Given the description of an element on the screen output the (x, y) to click on. 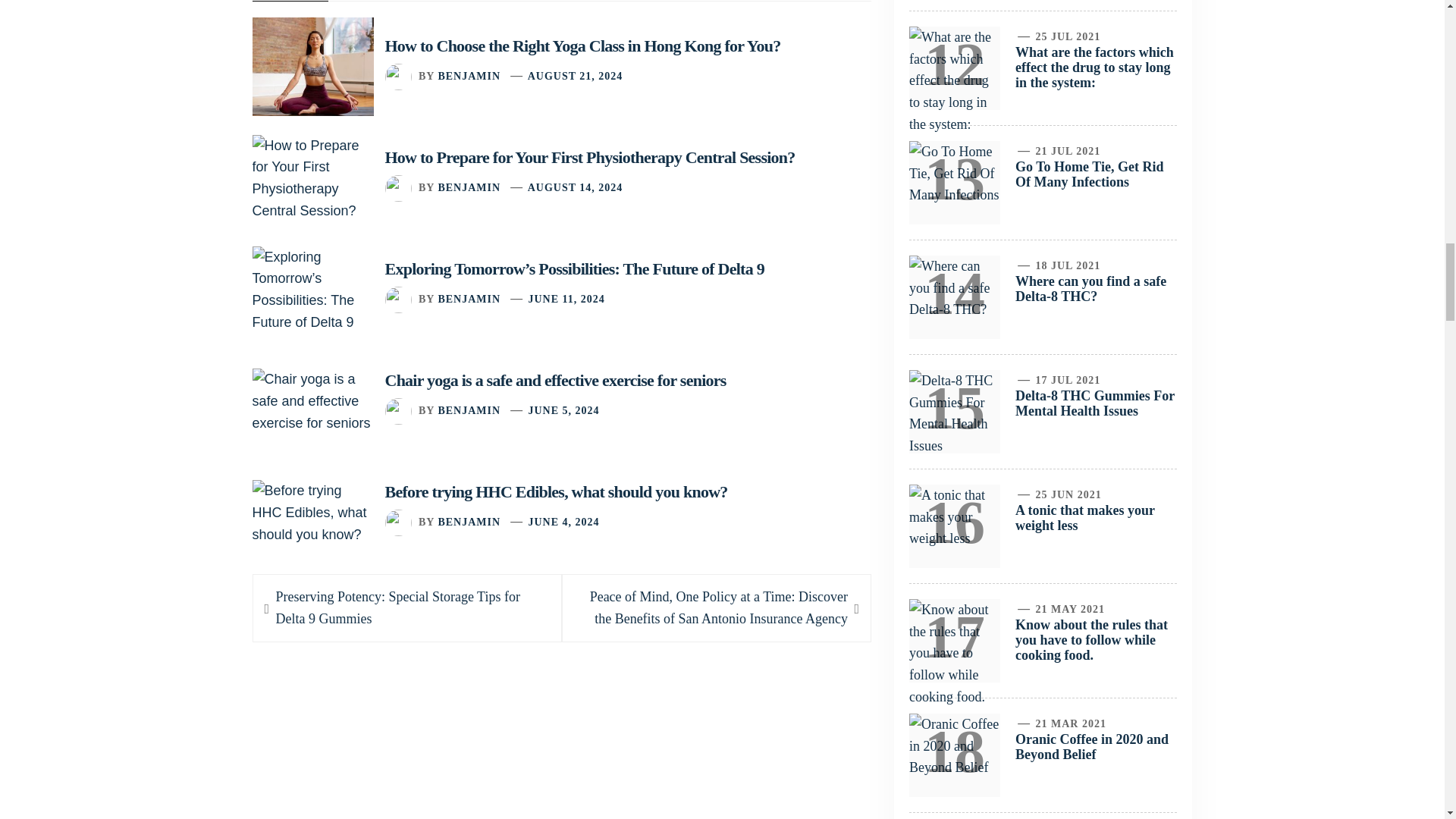
How to Choose the Right Yoga Class in Hong Kong for You? (582, 45)
BENJAMIN (469, 521)
BENJAMIN (469, 298)
BENJAMIN (469, 75)
JUNE 11, 2024 (565, 298)
JUNE 4, 2024 (562, 521)
Chair yoga is a safe and effective exercise for seniors (555, 380)
BENJAMIN (469, 410)
BENJAMIN (469, 187)
AUGUST 14, 2024 (575, 187)
